Given the description of an element on the screen output the (x, y) to click on. 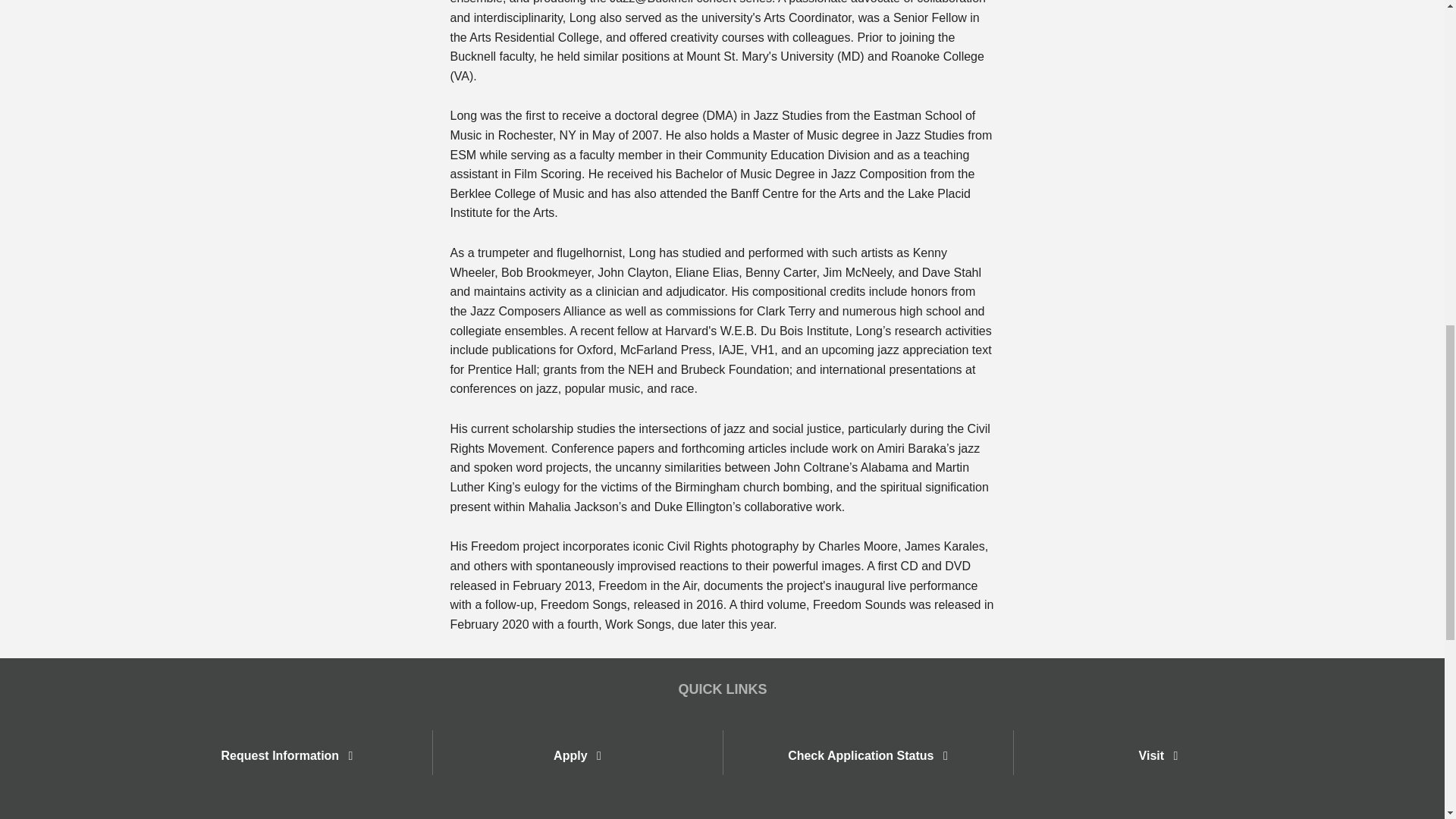
Request Information (286, 755)
Visit (1157, 755)
Apply (577, 752)
Check Application Status (867, 755)
Request Information (286, 755)
Apply (577, 755)
Apply (577, 755)
Visit (1157, 752)
Check Application Status (866, 752)
Request Information (287, 752)
